Given the description of an element on the screen output the (x, y) to click on. 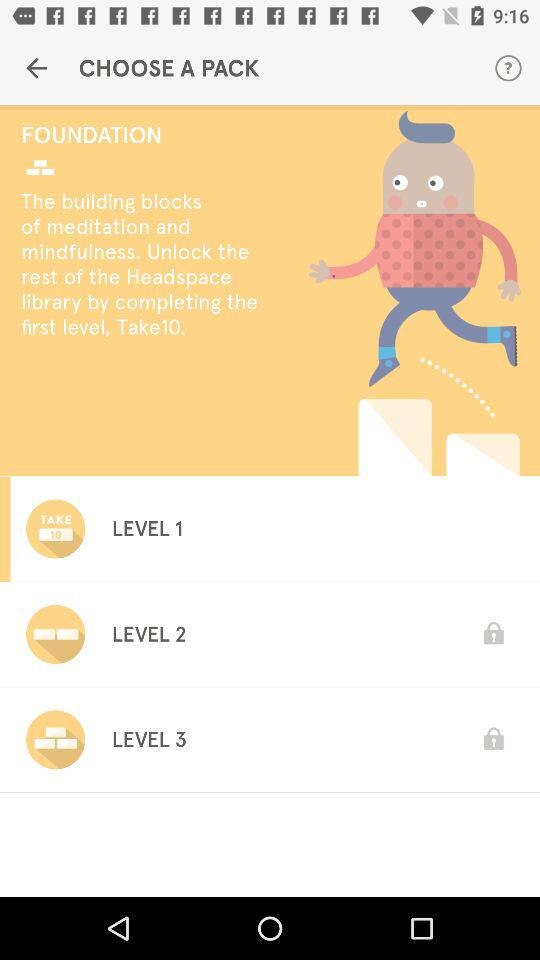
click the icon next to the choose a pack (508, 67)
